Given the description of an element on the screen output the (x, y) to click on. 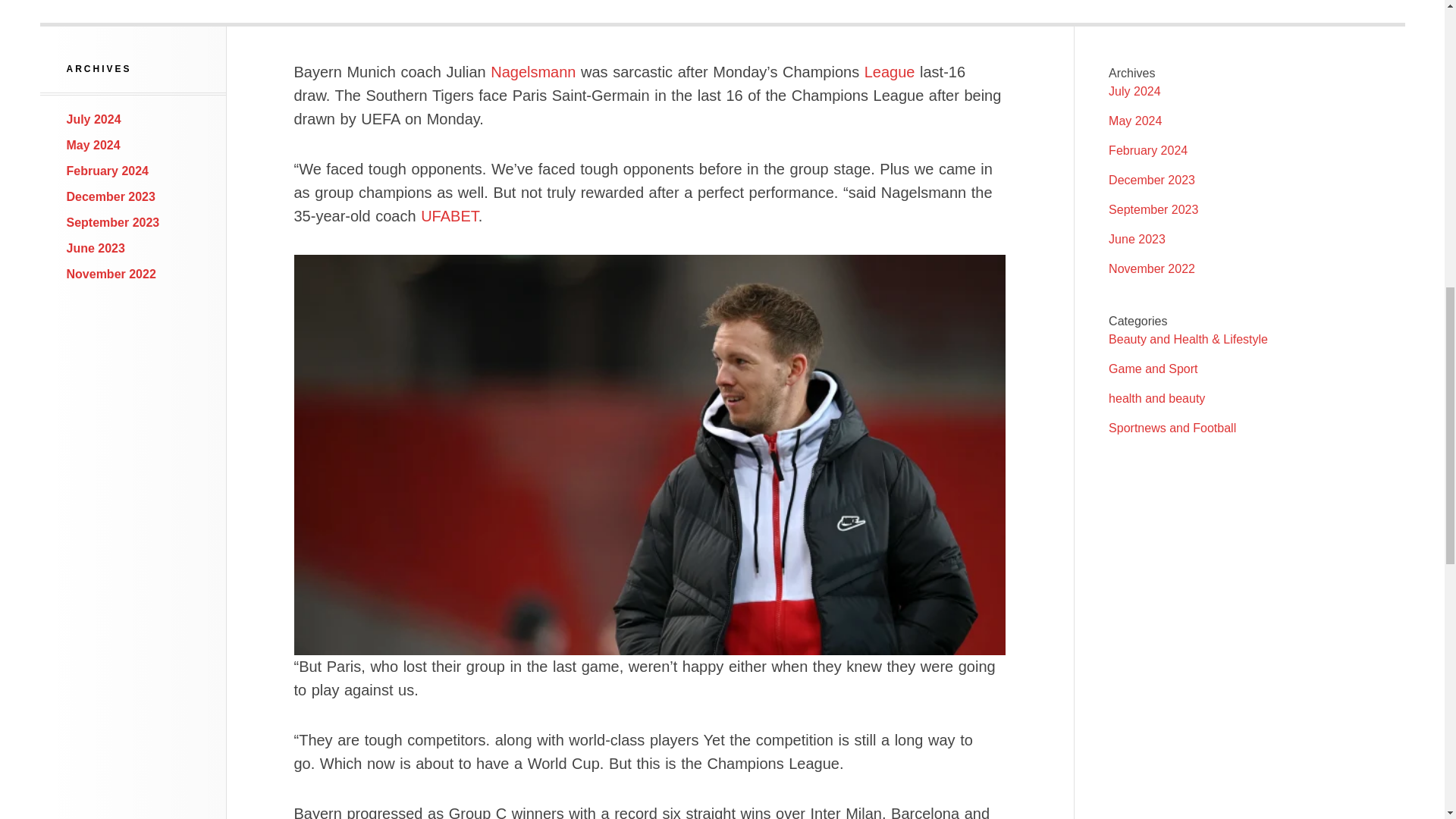
July 2024 (93, 119)
February 2024 (107, 170)
League (889, 71)
November 2022 (110, 273)
June 2023 (95, 247)
September 2023 (113, 222)
December 2023 (110, 196)
Nagelsmann (532, 71)
UFABET (449, 216)
May 2024 (93, 144)
